Given the description of an element on the screen output the (x, y) to click on. 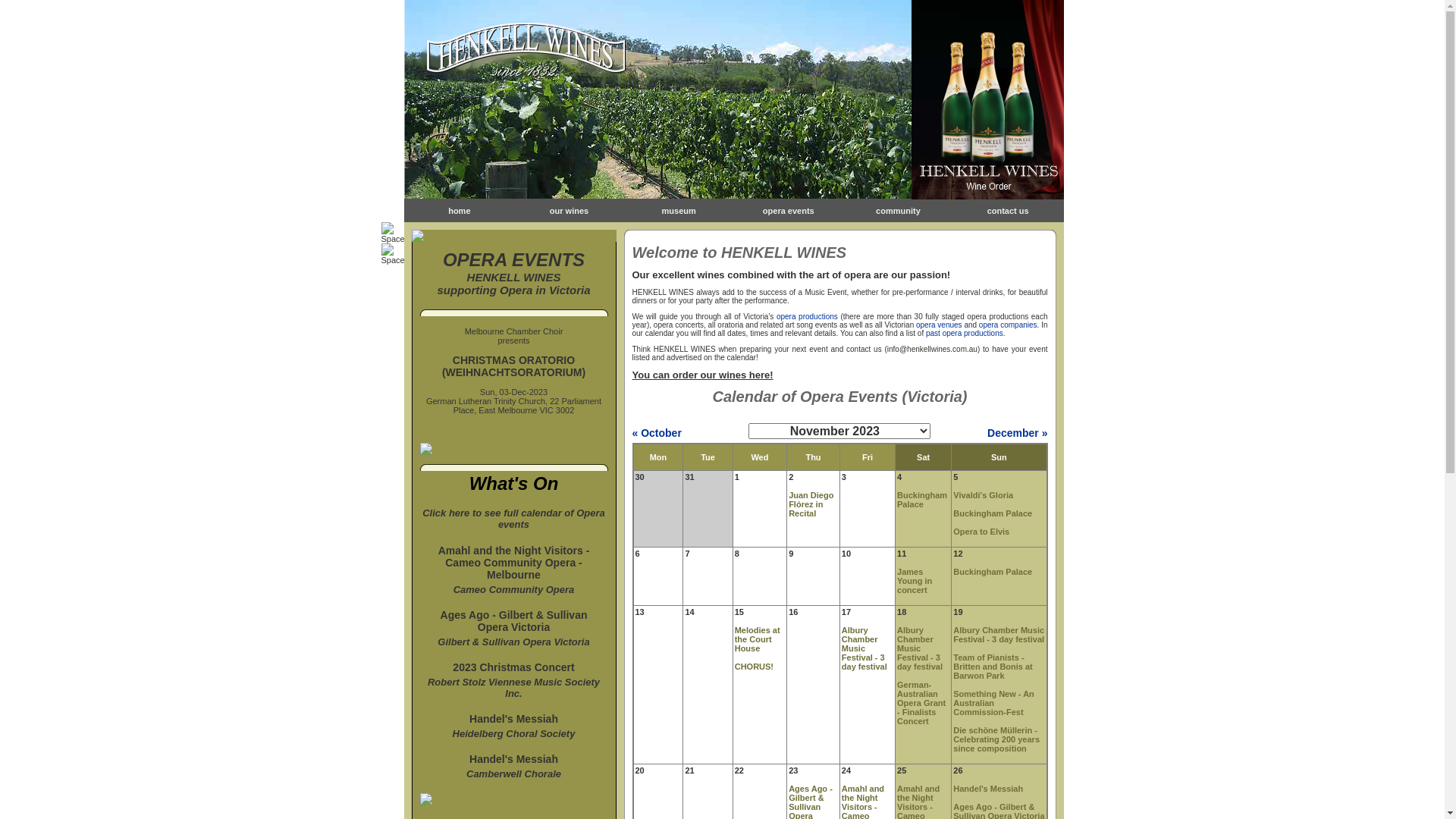
Vivaldi's Gloria Element type: text (983, 494)
opera events Element type: text (788, 210)
Something New - An Australian Commission-Fest Element type: text (993, 702)
Buckingham Palace Element type: text (922, 499)
past opera productions Element type: text (964, 333)
Handel's Messiah Element type: text (987, 788)
Team of Pianists - Britten and Bonis at Barwon Park Element type: text (992, 666)
opera companies Element type: text (1008, 324)
German-Australian Opera Grant - Finalists Concert Element type: text (921, 702)
opera productions Element type: text (806, 316)
Buckingham Palace Element type: text (992, 571)
our wines Element type: text (568, 210)
Handel's Messiah Element type: text (513, 718)
community Element type: text (897, 210)
museum Element type: text (679, 210)
CHORUS! Element type: text (753, 666)
Ages Ago - Gilbert & Sullivan Opera Victoria Element type: text (513, 620)
Handel's Messiah Element type: text (513, 759)
Melodies at the Court House Element type: text (757, 638)
opera venues Element type: text (939, 324)
contact us Element type: text (1008, 210)
Opera to Elvis Element type: text (981, 531)
James Young in concert Element type: text (914, 580)
home Element type: text (459, 210)
Buckingham Palace Element type: text (992, 512)
2023 Christmas Concert Element type: text (513, 667)
Albury Chamber Music Festival - 3 day festival Element type: text (864, 648)
You can order our wines here! Element type: text (702, 374)
Melbourne Chamber Choir
presents Element type: text (513, 335)
Albury Chamber Music Festival - 3 day festival Element type: text (919, 648)
Albury Chamber Music Festival - 3 day festival Element type: text (998, 634)
Click here to see full calendar of Opera events Element type: text (513, 523)
info@henkellwines.com.au Element type: text (932, 349)
